Given the description of an element on the screen output the (x, y) to click on. 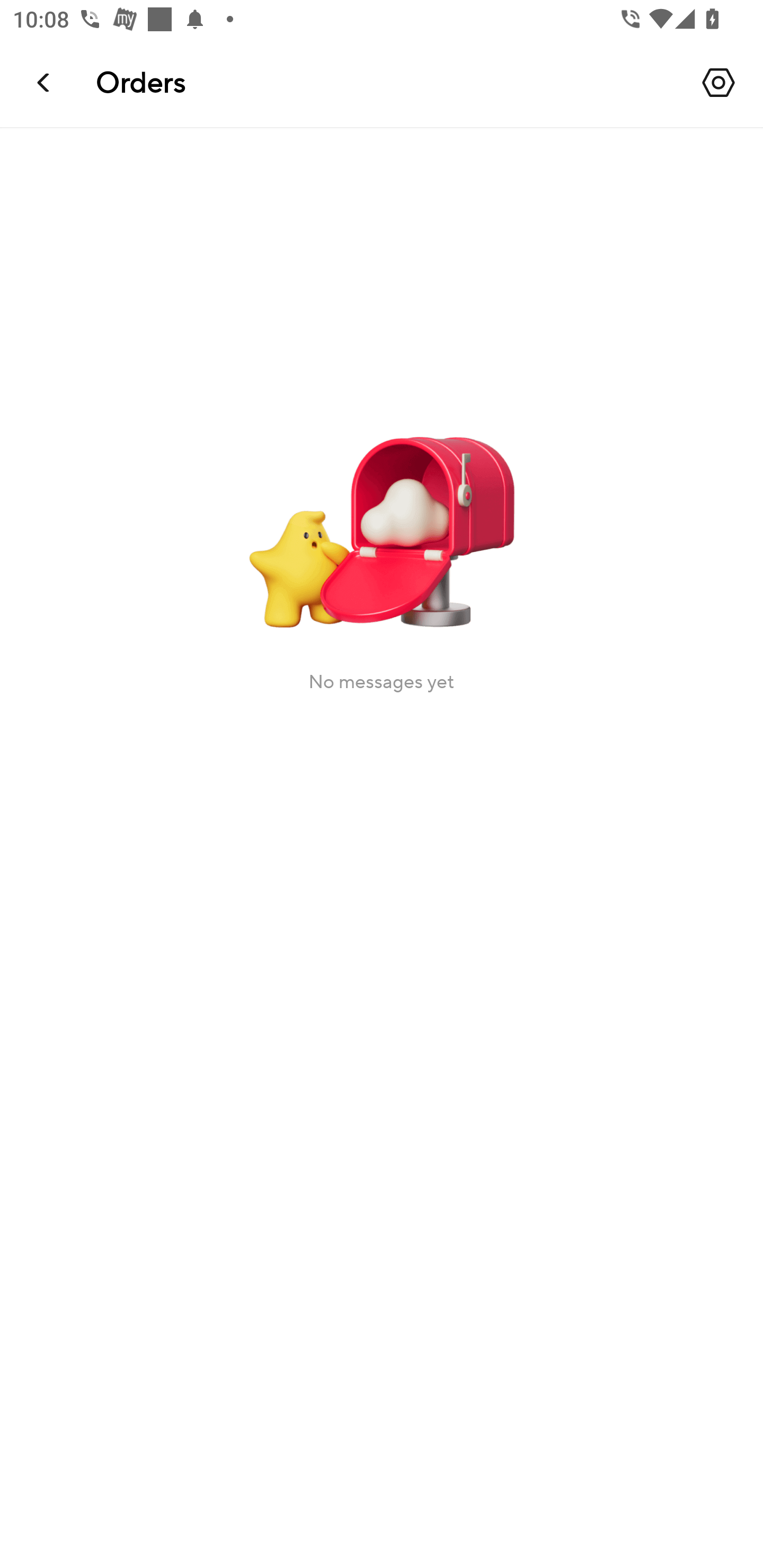
Navigate up (44, 82)
